Given the description of an element on the screen output the (x, y) to click on. 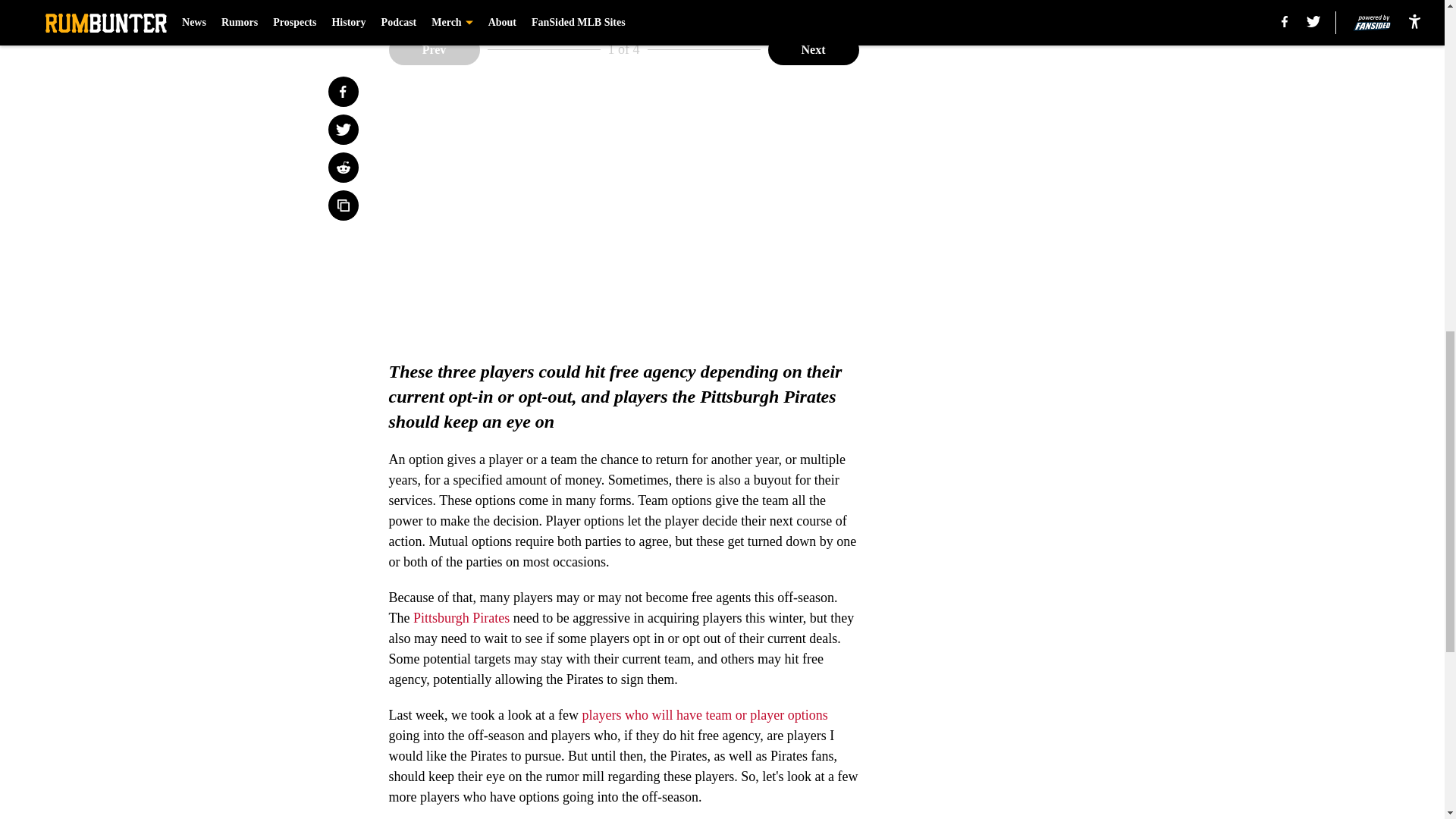
Pittsburgh Pirates (461, 617)
players who will have team or player options (703, 714)
Prev (433, 50)
Next (813, 50)
